Given the description of an element on the screen output the (x, y) to click on. 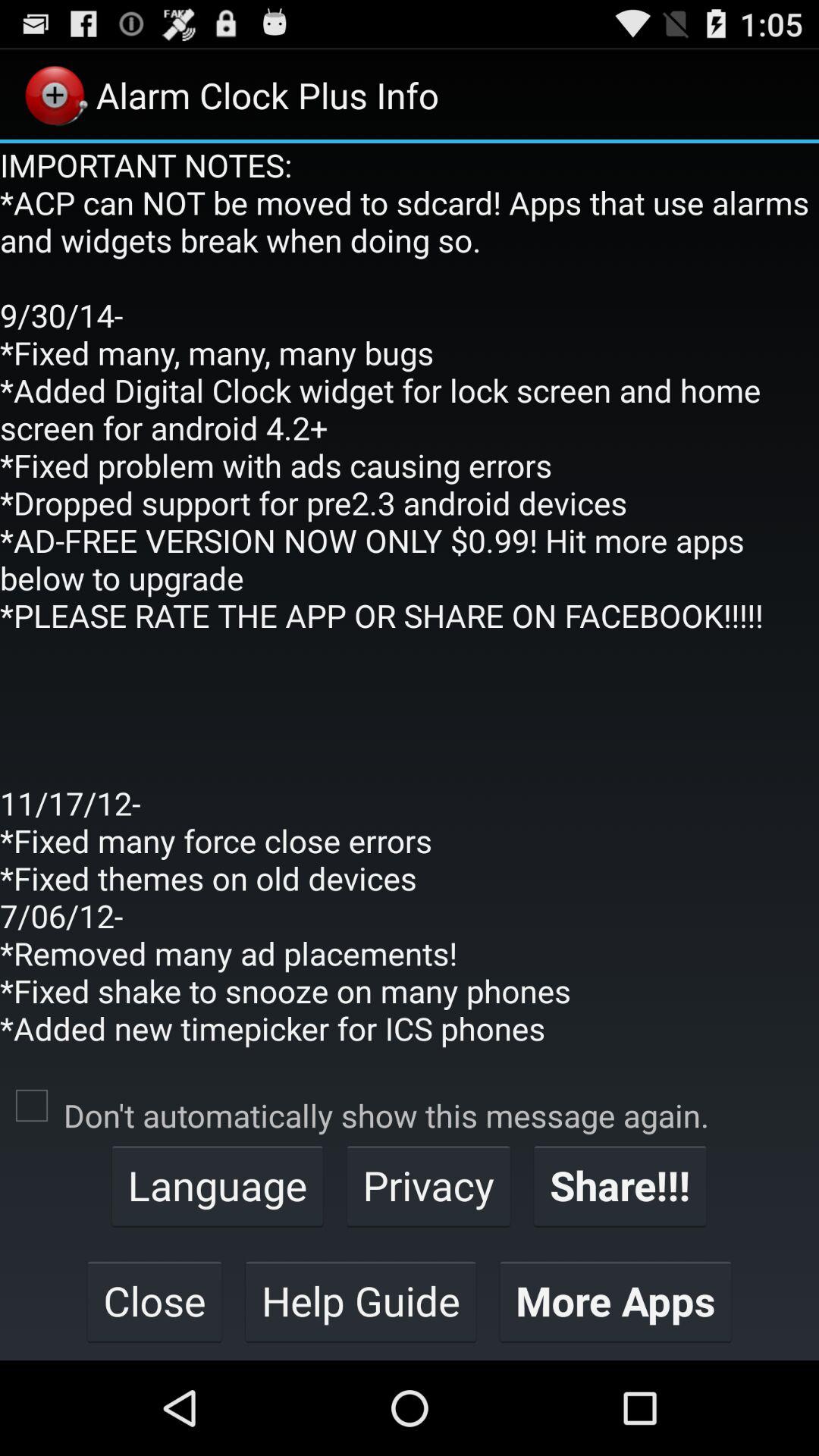
open app below the important notes acp (31, 1105)
